Given the description of an element on the screen output the (x, y) to click on. 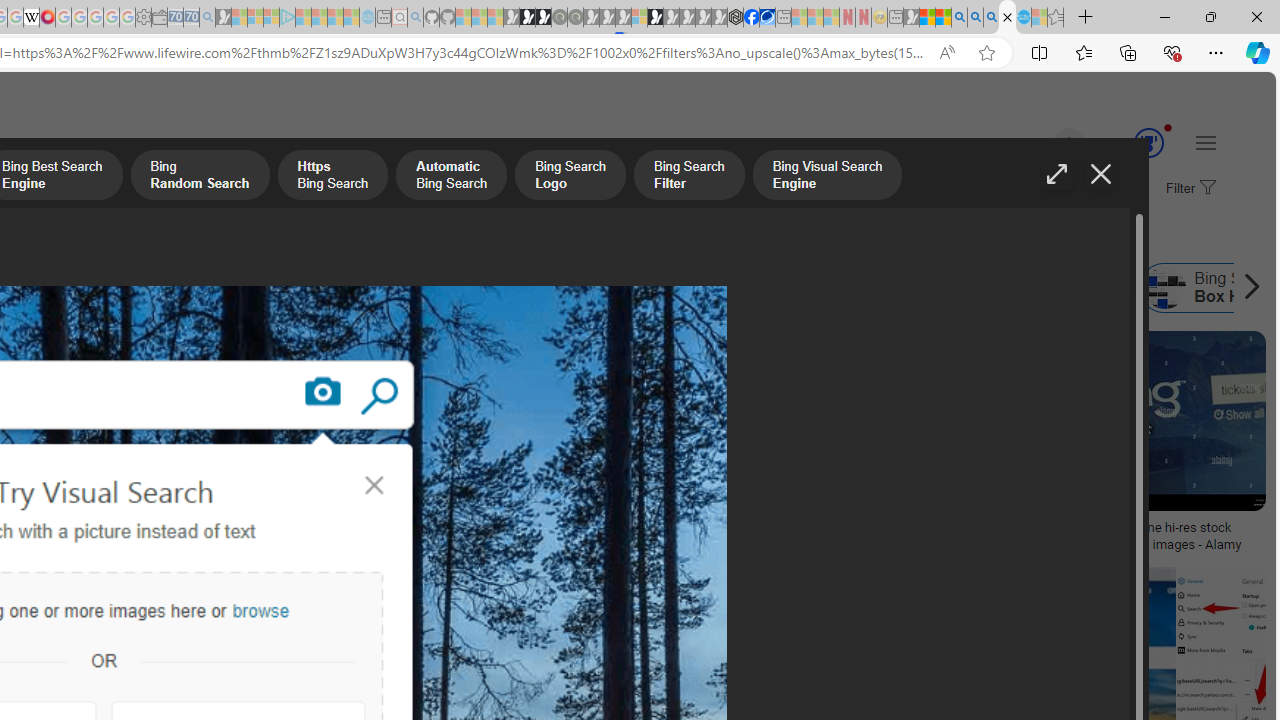
Mugs (132, 521)
Https Bing Search (331, 177)
Bing Search Engine Homepage (740, 287)
Bing Search Site - Search Images (1007, 17)
Bing Mugs (132, 521)
Who Made Bing Search Engine (516, 287)
Filter (1188, 189)
Bing Web (881, 287)
Target page - Wikipedia (31, 17)
